Given the description of an element on the screen output the (x, y) to click on. 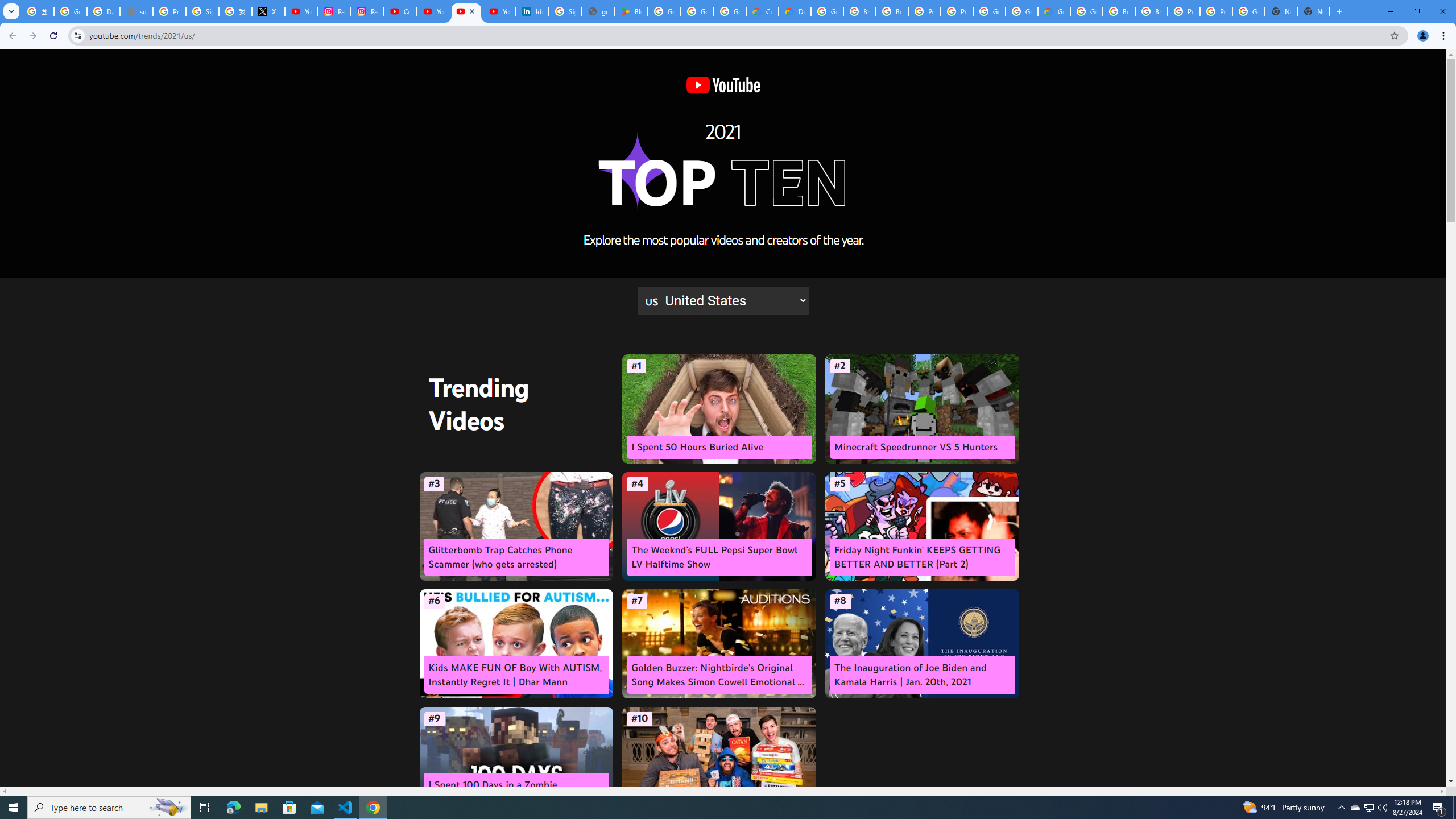
Browse Chrome as a guest - Computer - Google Chrome Help (1150, 11)
Customer Care | Google Cloud (762, 11)
Google Cloud Platform (1021, 11)
Google Cloud Estimate Summary (1053, 11)
#2 Minecraft Speedrunner VS 5 Hunters (921, 408)
YouTube Content Monetization Policies - How YouTube Works (301, 11)
support.google.com - Network error (136, 11)
